Given the description of an element on the screen output the (x, y) to click on. 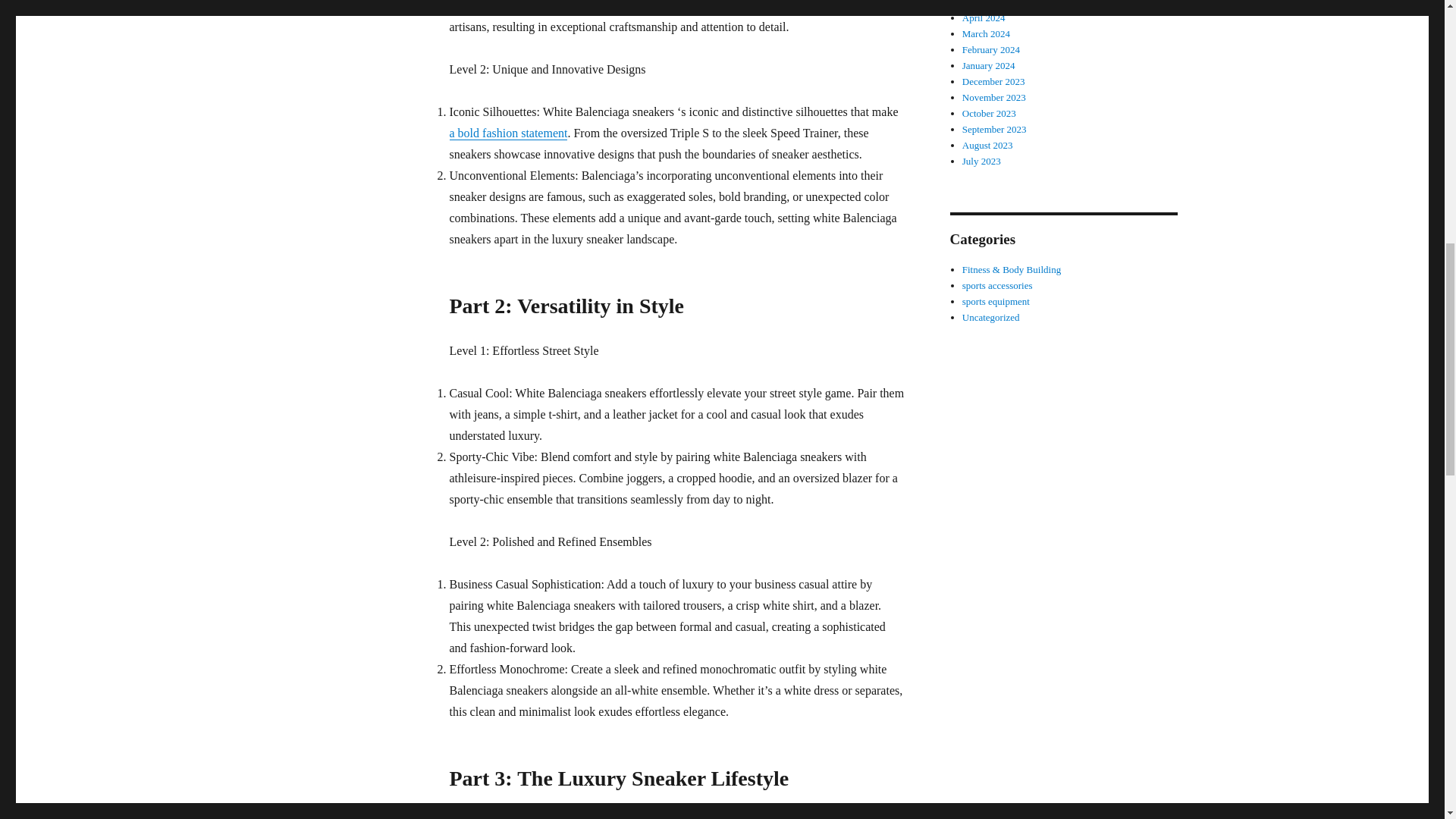
January 2024 (988, 65)
May 2024 (982, 3)
July 2023 (981, 161)
December 2023 (993, 81)
November 2023 (994, 97)
February 2024 (991, 49)
March 2024 (986, 33)
sports accessories (997, 285)
August 2023 (987, 144)
a bold fashion statement (507, 132)
